Given the description of an element on the screen output the (x, y) to click on. 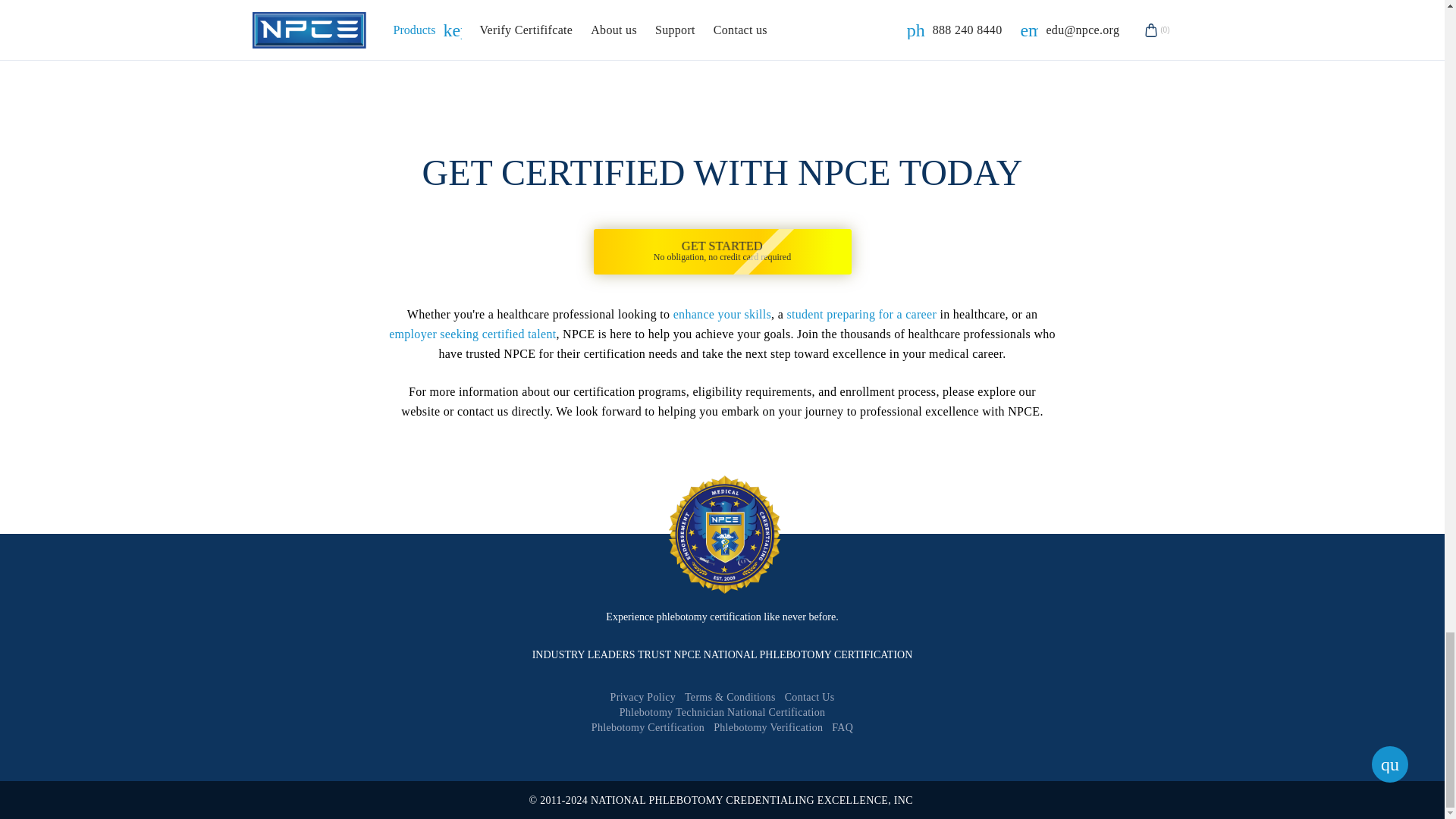
Phlebotomy Verification (767, 727)
Phlebotomy Technician National Certification (722, 712)
Privacy Policy (642, 697)
Phlebotomy Certification (647, 727)
Contact Us (721, 251)
FAQ (809, 697)
